Given the description of an element on the screen output the (x, y) to click on. 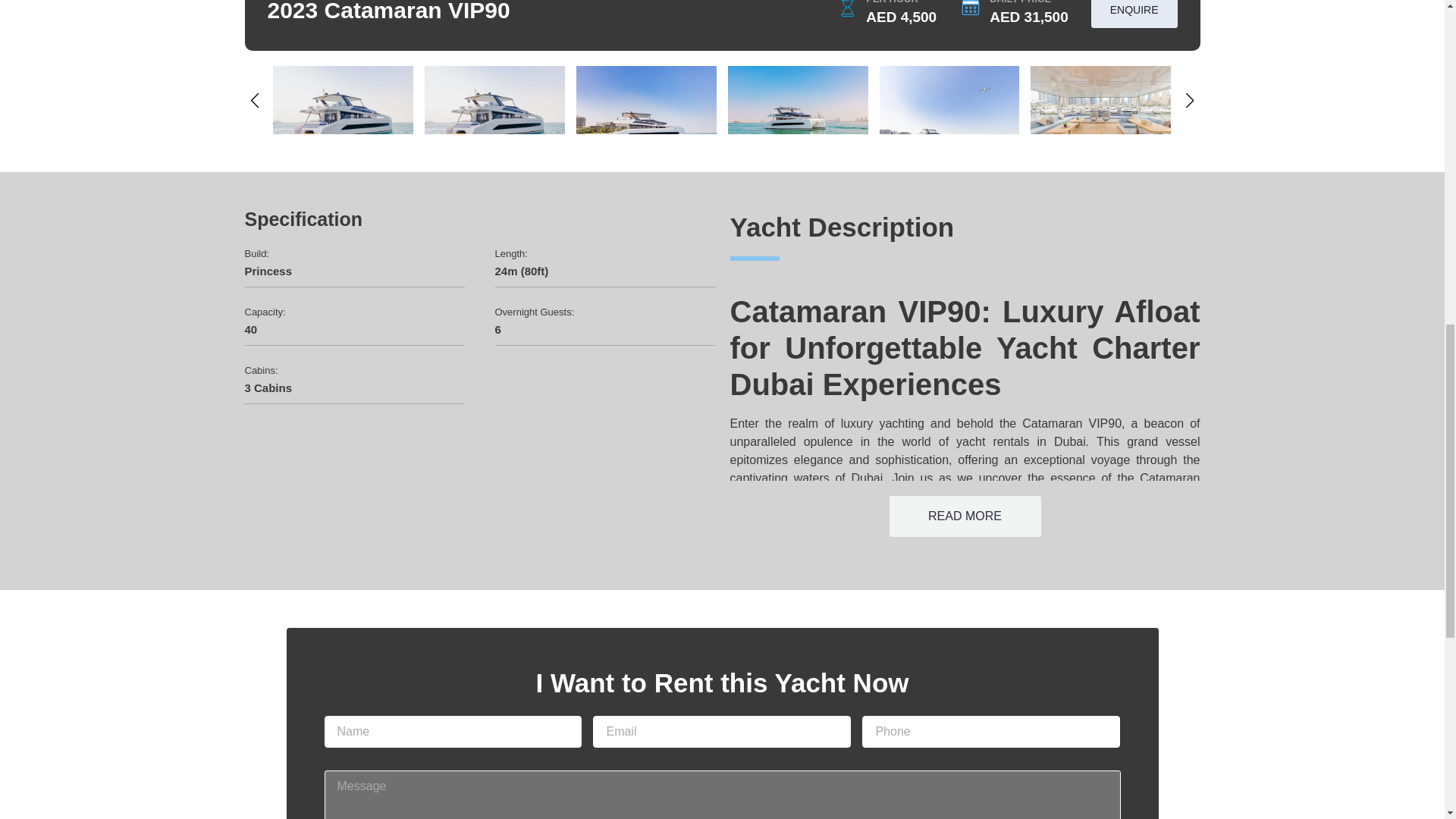
ENQUIRE (1133, 13)
READ MORE (964, 516)
